Given the description of an element on the screen output the (x, y) to click on. 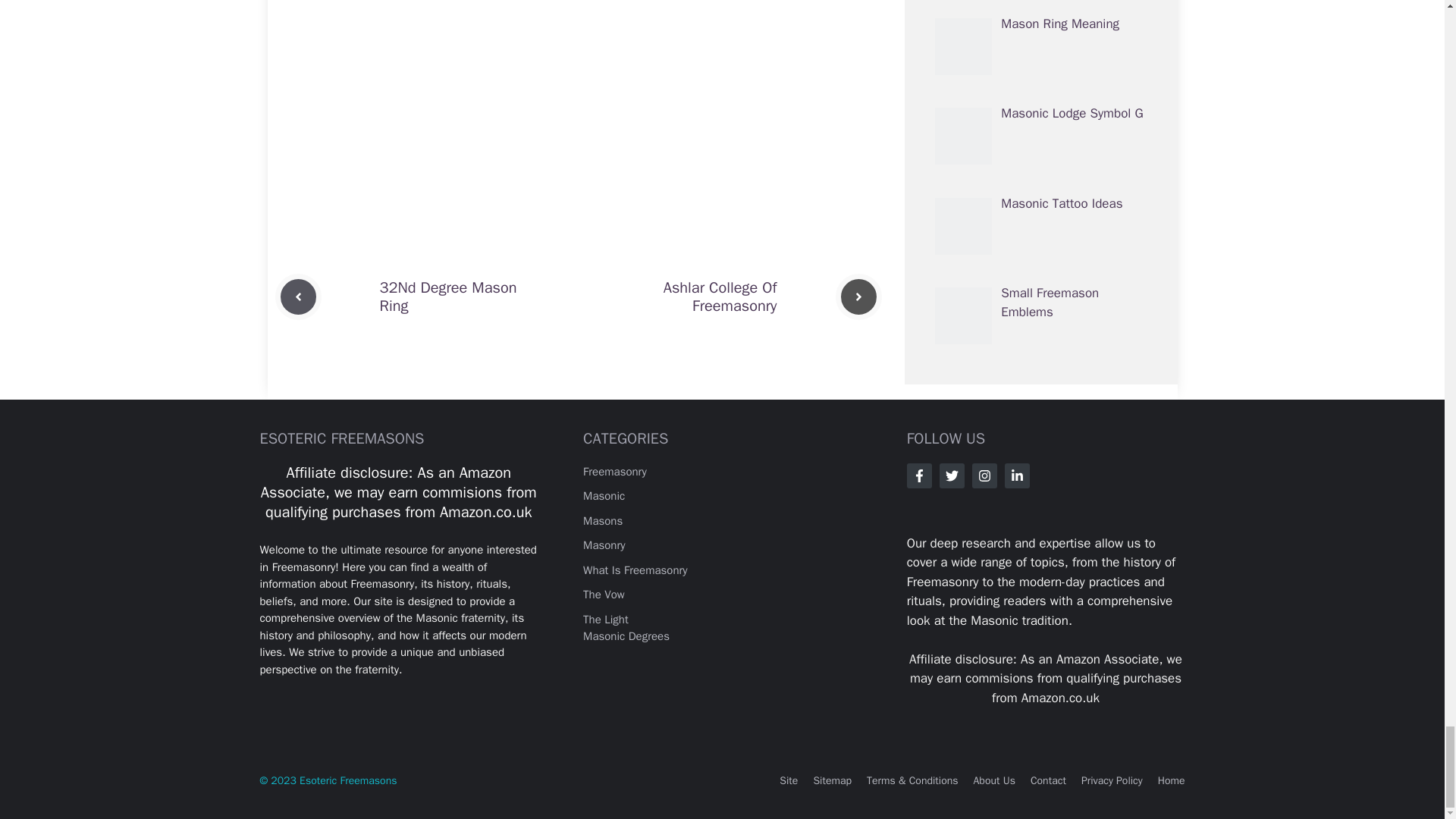
This will CHANGE the way you wear your Masonic Ring FOREVER (578, 69)
